Given the description of an element on the screen output the (x, y) to click on. 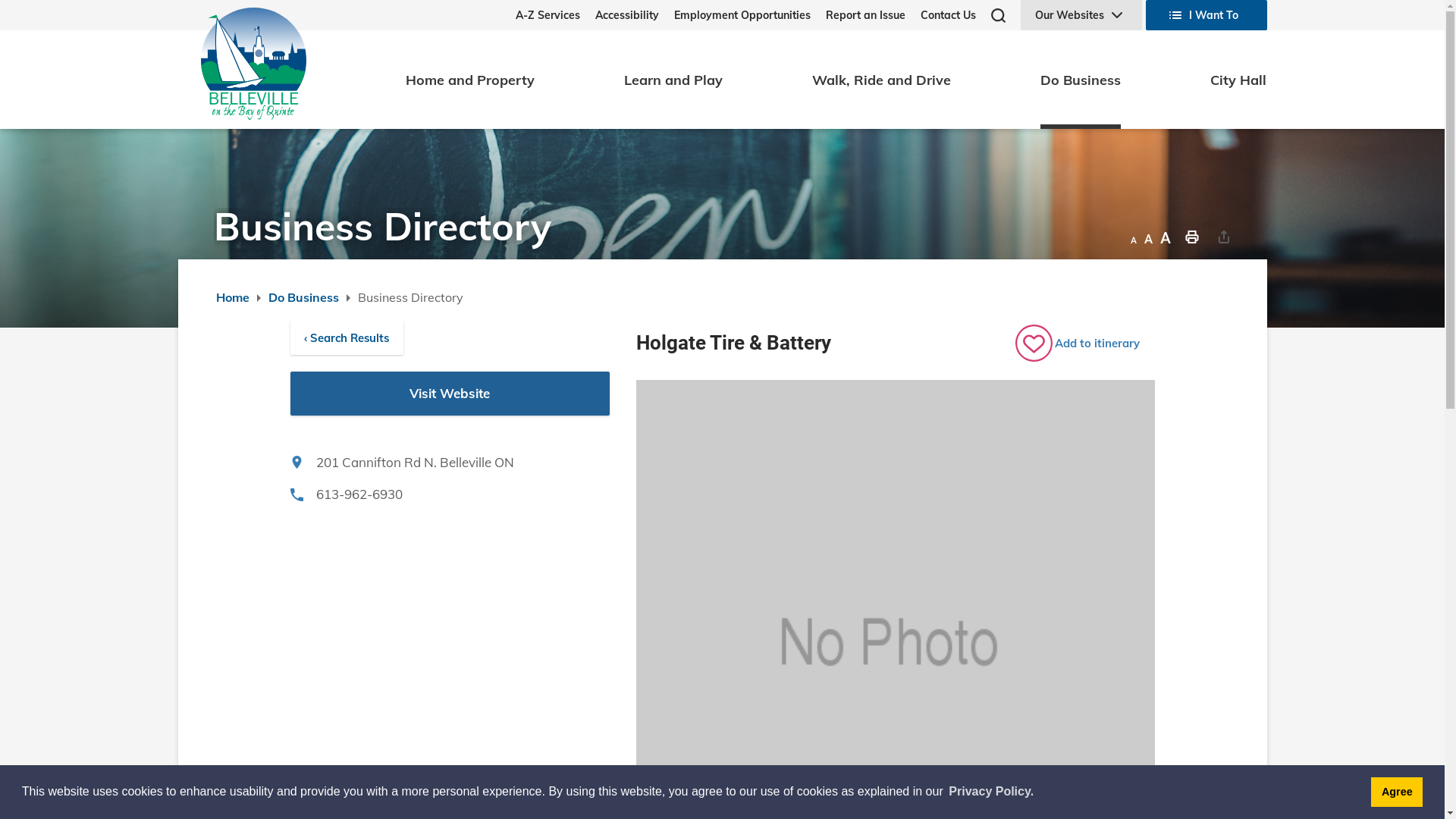
Default text size Element type: text (1147, 235)
Contact Us Element type: text (940, 15)
Visit Website Element type: text (449, 393)
Report an Issue Element type: text (856, 15)
Increase text size Element type: text (1165, 235)
Do Business Element type: text (303, 296)
Home and Property Element type: text (469, 79)
A-Z Services Element type: text (547, 15)
Share This Page Element type: text (1223, 235)
Skip to Content Element type: text (0, 0)
Add to itinerary Element type: text (1084, 342)
Agree Element type: text (1396, 791)
Accessibility Element type: text (618, 15)
Home Element type: text (231, 296)
Click to return to the homepage Element type: hover (253, 63)
Decrease text size Element type: text (1132, 235)
Open Search Bar Element type: text (997, 15)
Do Business Element type: text (1080, 79)
Print This Page Element type: text (1191, 235)
Learn and Play Element type: text (673, 79)
Walk, Ride and Drive Element type: text (881, 79)
Our Websites Element type: text (1081, 15)
City Hall Element type: text (1238, 79)
I Want To Element type: text (1205, 15)
Employment Opportunities Element type: text (733, 15)
Privacy Policy. Element type: text (990, 791)
